Given the description of an element on the screen output the (x, y) to click on. 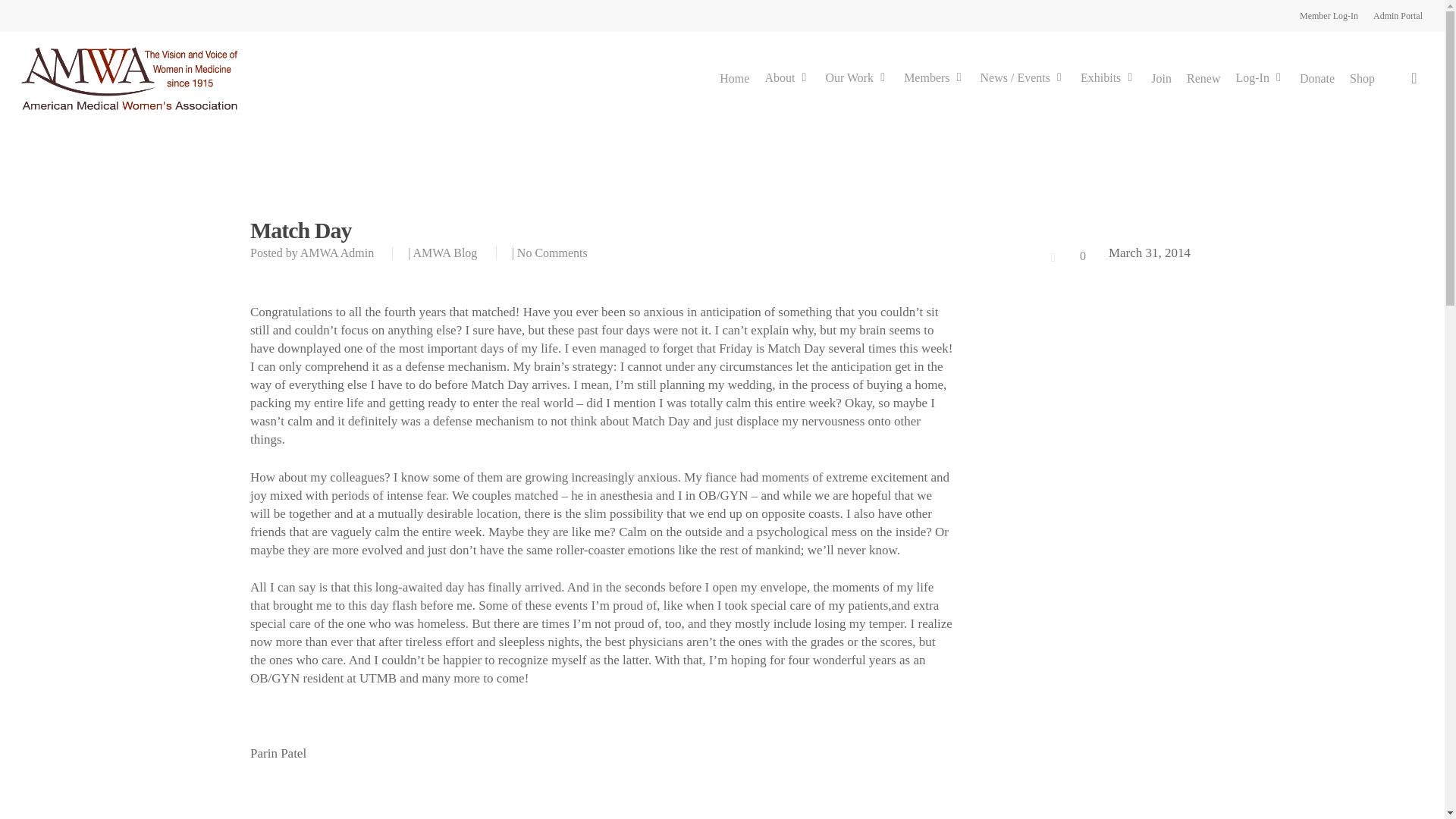
About (786, 78)
Member Log-In (1329, 15)
Love this (1066, 257)
Posts by AMWA Admin (336, 252)
Home (734, 78)
Our Work (856, 78)
Admin Portal (1397, 15)
